Given the description of an element on the screen output the (x, y) to click on. 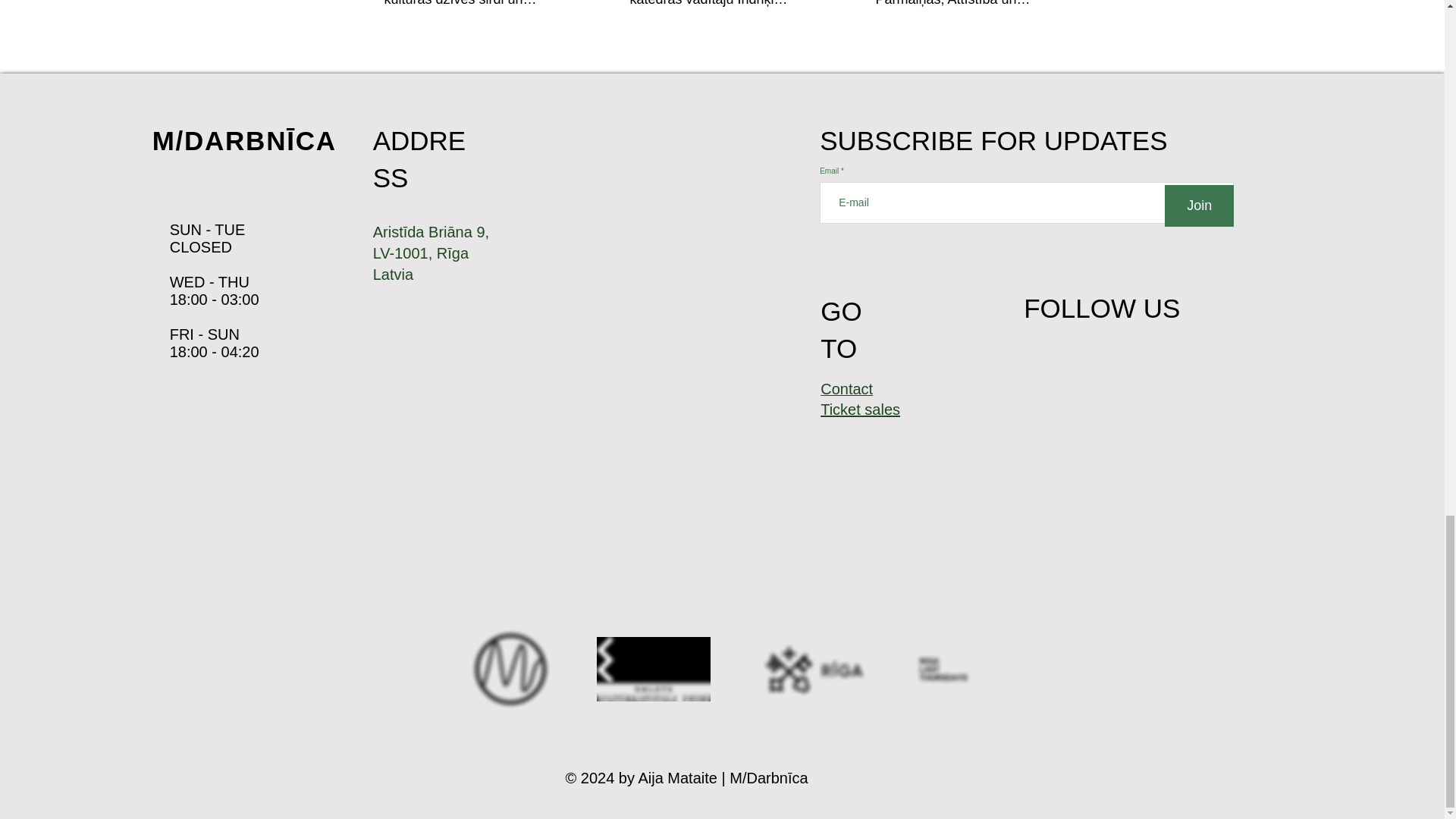
ADDRESS (418, 159)
Join (1198, 205)
Ticket sales (860, 409)
Contact (846, 390)
